Given the description of an element on the screen output the (x, y) to click on. 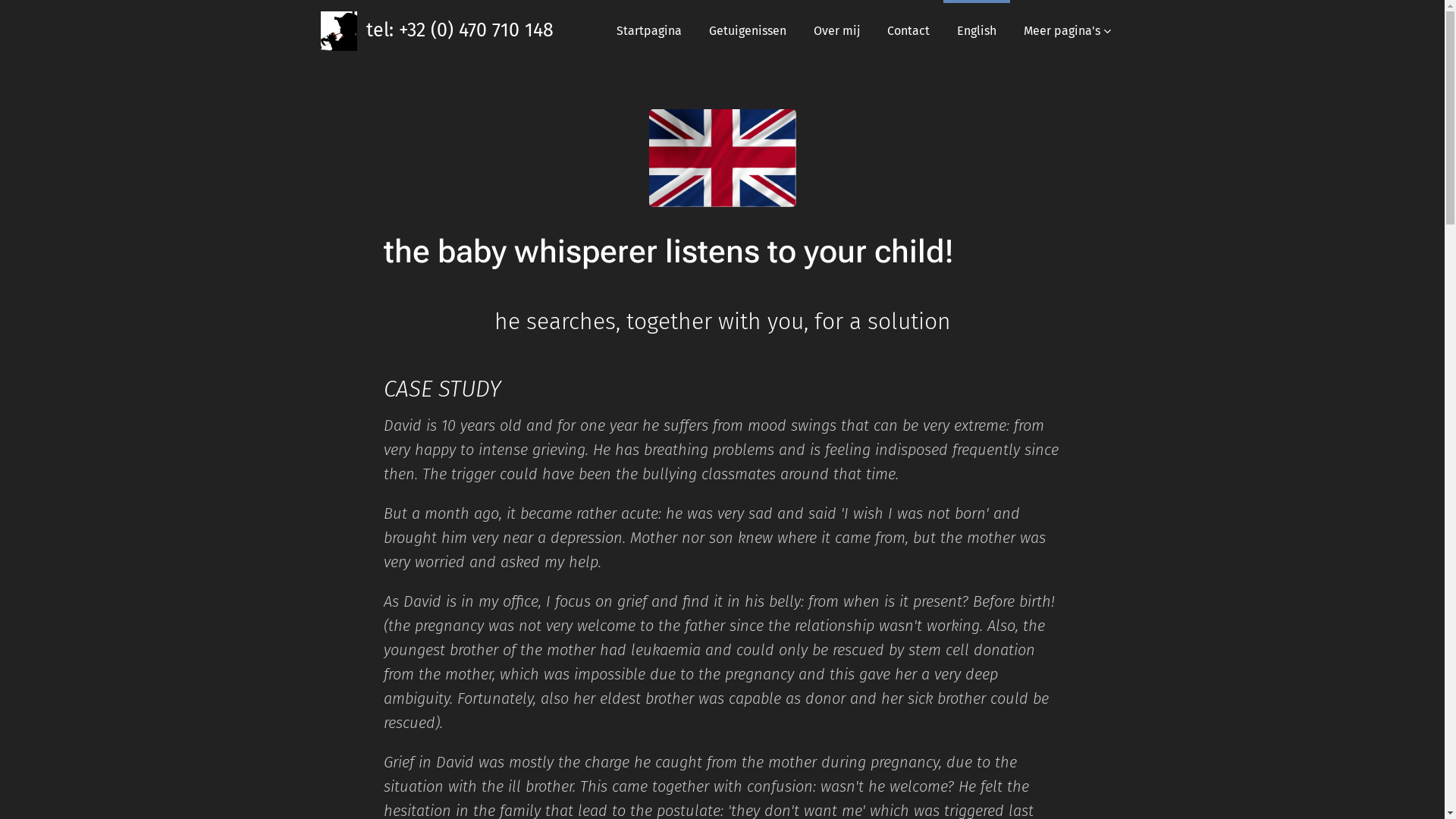
Getuigenissen Element type: text (746, 31)
Meer pagina's Element type: text (1067, 31)
tel: +32 (0) 470 710 148 Element type: text (438, 31)
Over mij Element type: text (835, 31)
English Element type: text (976, 31)
Contact Element type: text (908, 31)
Startpagina Element type: text (648, 31)
